Given the description of an element on the screen output the (x, y) to click on. 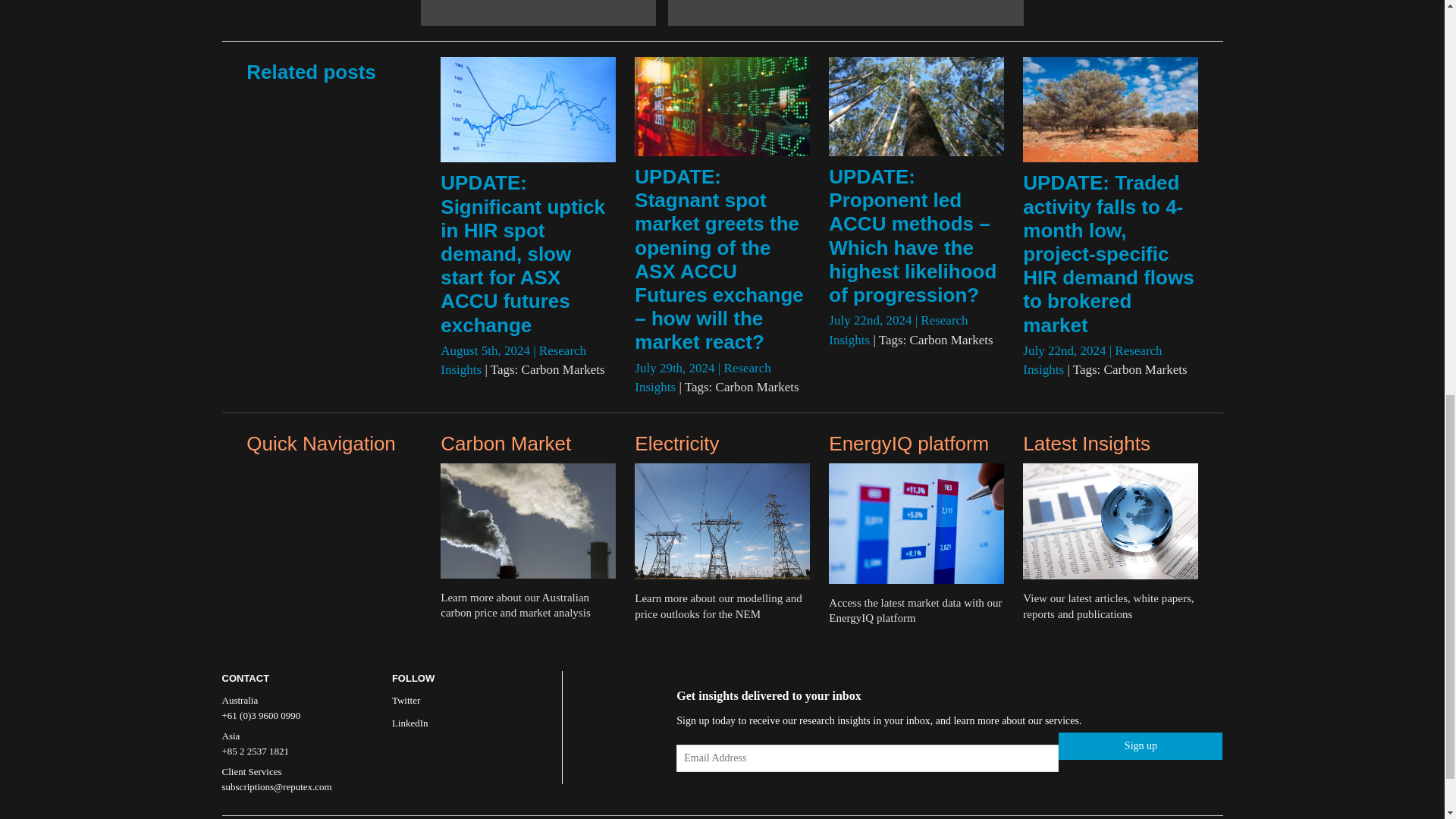
Sign up (1140, 746)
